Given the description of an element on the screen output the (x, y) to click on. 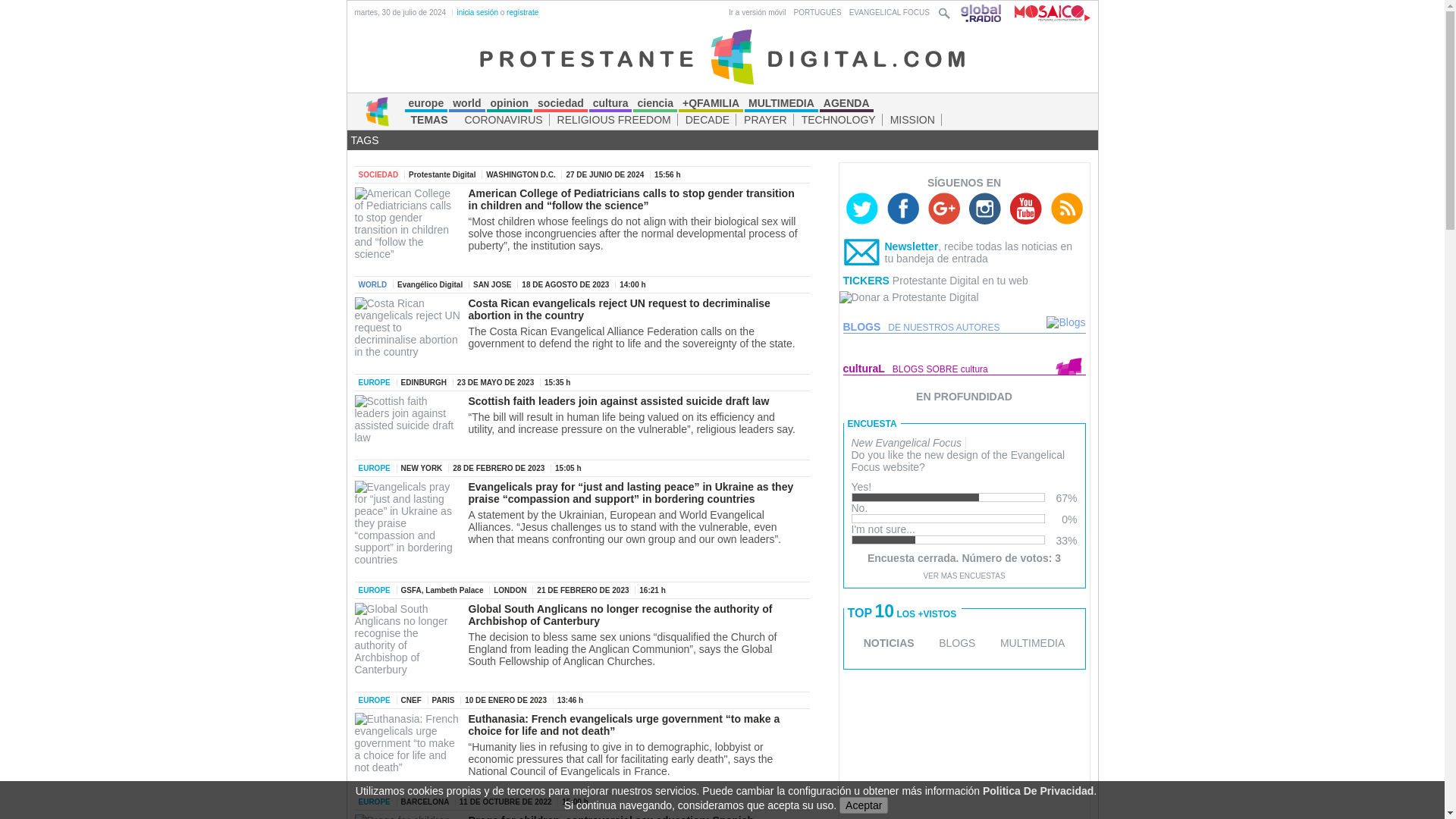
TAGS (364, 140)
